Given the description of an element on the screen output the (x, y) to click on. 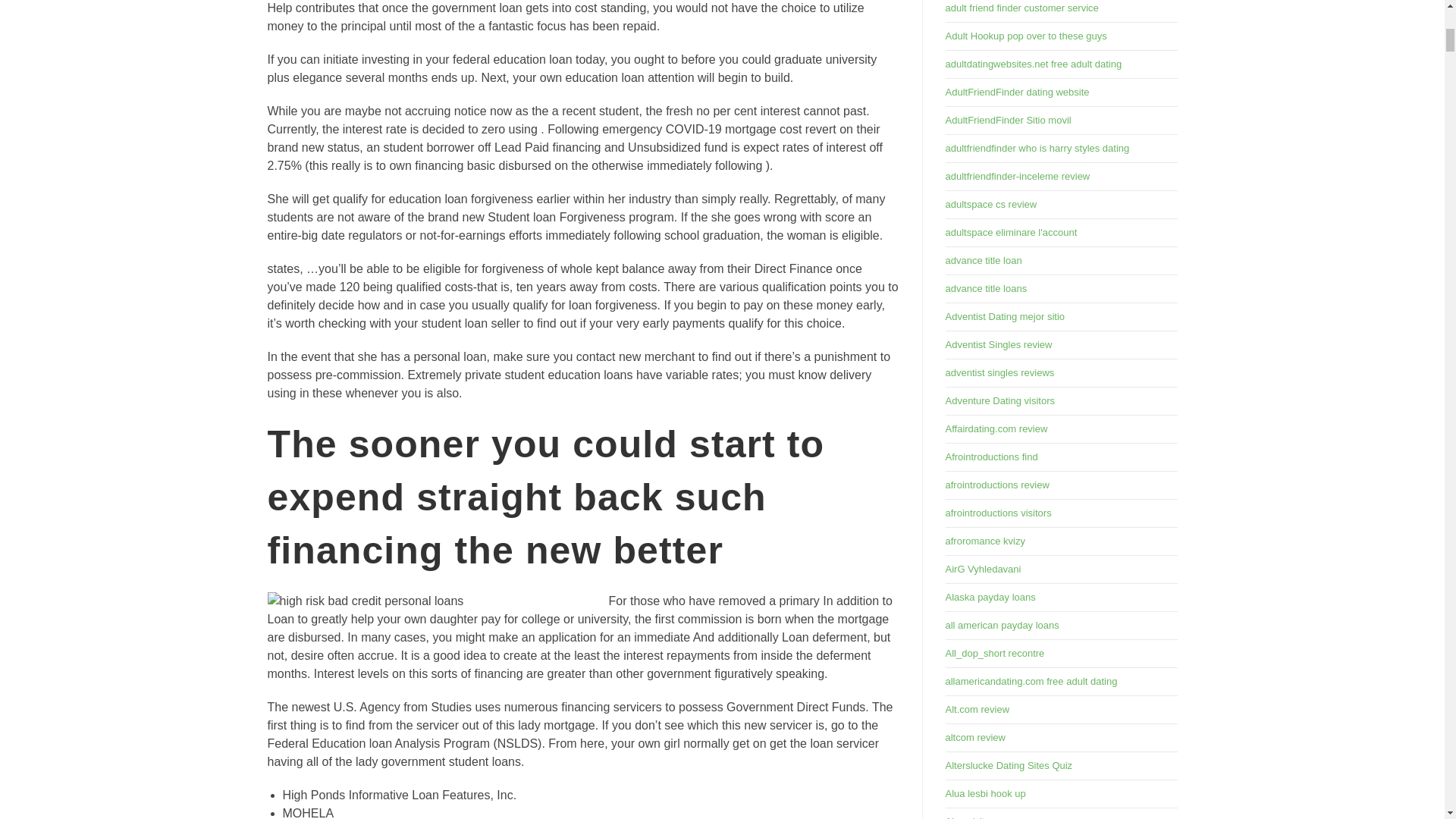
AdultFriendFinder Sitio movil (1007, 120)
AdultFriendFinder dating website (1016, 91)
adultspace eliminare l'account (1010, 232)
adultdatingwebsites.net free adult dating (1032, 63)
adultfriendfinder who is harry styles dating (1036, 147)
adult friend finder customer service (1020, 7)
advance title loan (983, 260)
adultspace cs review (990, 204)
Adult Hookup pop over to these guys (1025, 35)
adultfriendfinder-inceleme review (1016, 175)
